Given the description of an element on the screen output the (x, y) to click on. 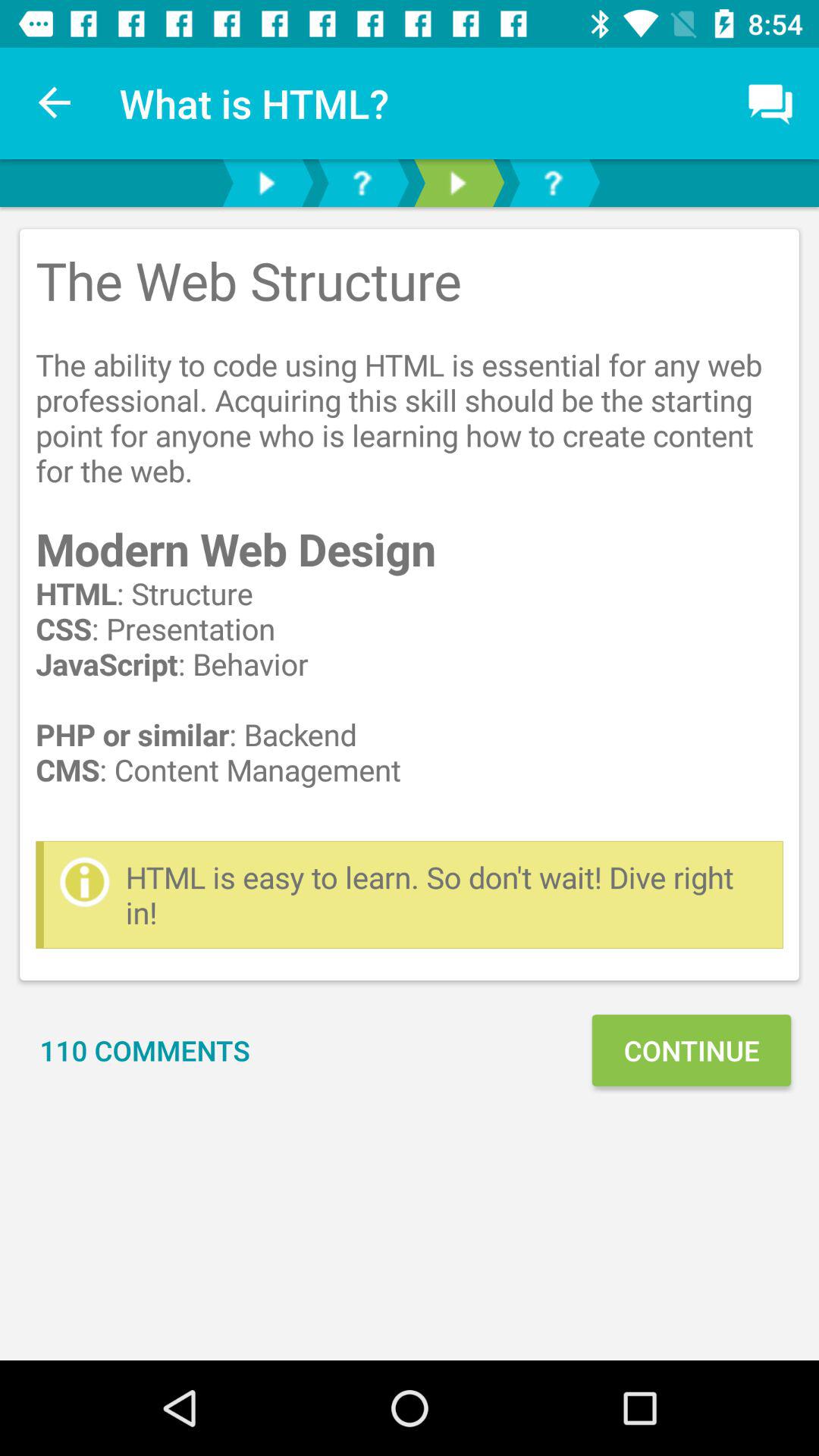
press the item to the right of 110 comments (691, 1050)
